Given the description of an element on the screen output the (x, y) to click on. 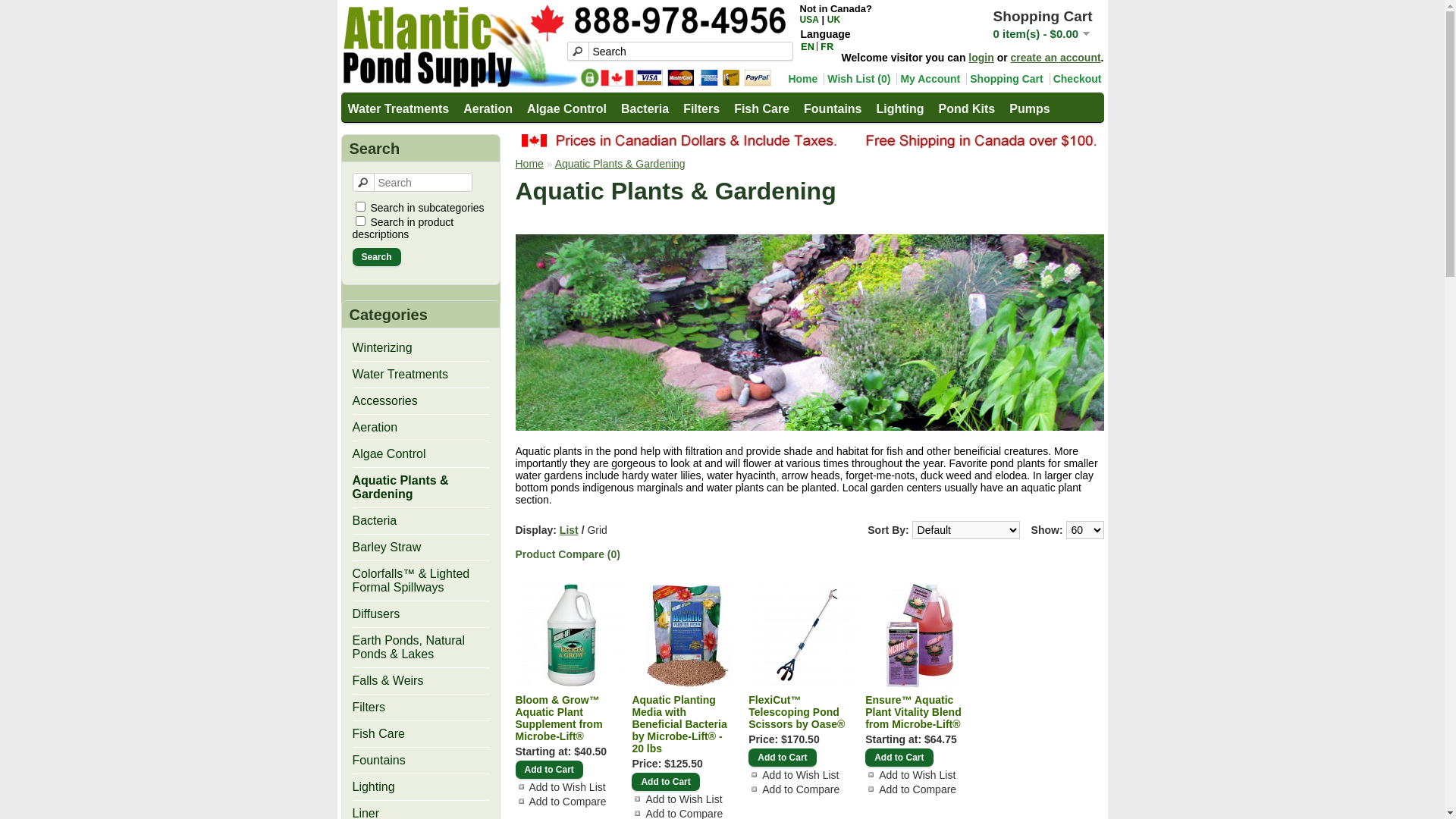
Fountains Element type: text (831, 107)
Barley Straw Element type: text (385, 546)
Lighting Element type: text (372, 786)
Add to Wish List Element type: text (564, 787)
Aquatic Plants & Gardening Element type: text (399, 486)
USA Element type: text (808, 19)
Lighting Element type: text (899, 107)
Add to Wish List Element type: text (680, 799)
Earth Ponds, Natural Ponds & Lakes Element type: text (407, 646)
Checkout Element type: text (1075, 78)
Accessories Element type: text (384, 400)
Product Compare (0) Element type: text (567, 554)
Fish Care Element type: text (760, 107)
pit2016en Element type: hover (809, 140)
Add to Cart Element type: text (549, 769)
Add to Compare Element type: text (564, 801)
Shopping Cart Element type: text (1004, 78)
Add to Cart Element type: text (898, 757)
create an account Element type: text (1055, 57)
Fish Care Element type: text (377, 733)
Fountains Element type: text (377, 759)
Bacteria Element type: text (373, 520)
Atlantic Pond Supply CANADA Element type: hover (564, 45)
Water Treatments Element type: text (397, 107)
Aeration Element type: text (487, 107)
Home Element type: text (800, 78)
Aquatic Plants & Gardening Element type: text (620, 163)
Filters Element type: text (700, 107)
Add to Wish List Element type: text (797, 774)
Pumps Element type: text (1028, 107)
Falls & Weirs Element type: text (387, 680)
My Account Element type: text (928, 78)
Filters Element type: text (368, 706)
Water Treatments Element type: text (399, 373)
Add to Compare Element type: text (797, 789)
Aeration Element type: text (374, 426)
Add to Cart Element type: text (665, 781)
Home Element type: text (529, 163)
Wish List (0) Element type: text (856, 78)
Pond Kits Element type: text (966, 107)
Add to Cart Element type: text (781, 757)
Add to Compare Element type: text (914, 789)
Bacteria Element type: text (644, 107)
Search Element type: text (680, 50)
Algae Control Element type: text (565, 107)
Diffusers Element type: text (375, 613)
login Element type: text (980, 57)
Winterizing Element type: text (381, 347)
List Element type: text (568, 530)
0 item(s) - $0.00 Element type: text (1041, 33)
Add to Wish List Element type: text (914, 774)
Algae Control Element type: text (388, 453)
UK Element type: text (833, 19)
English Element type: hover (807, 45)
